Given the description of an element on the screen output the (x, y) to click on. 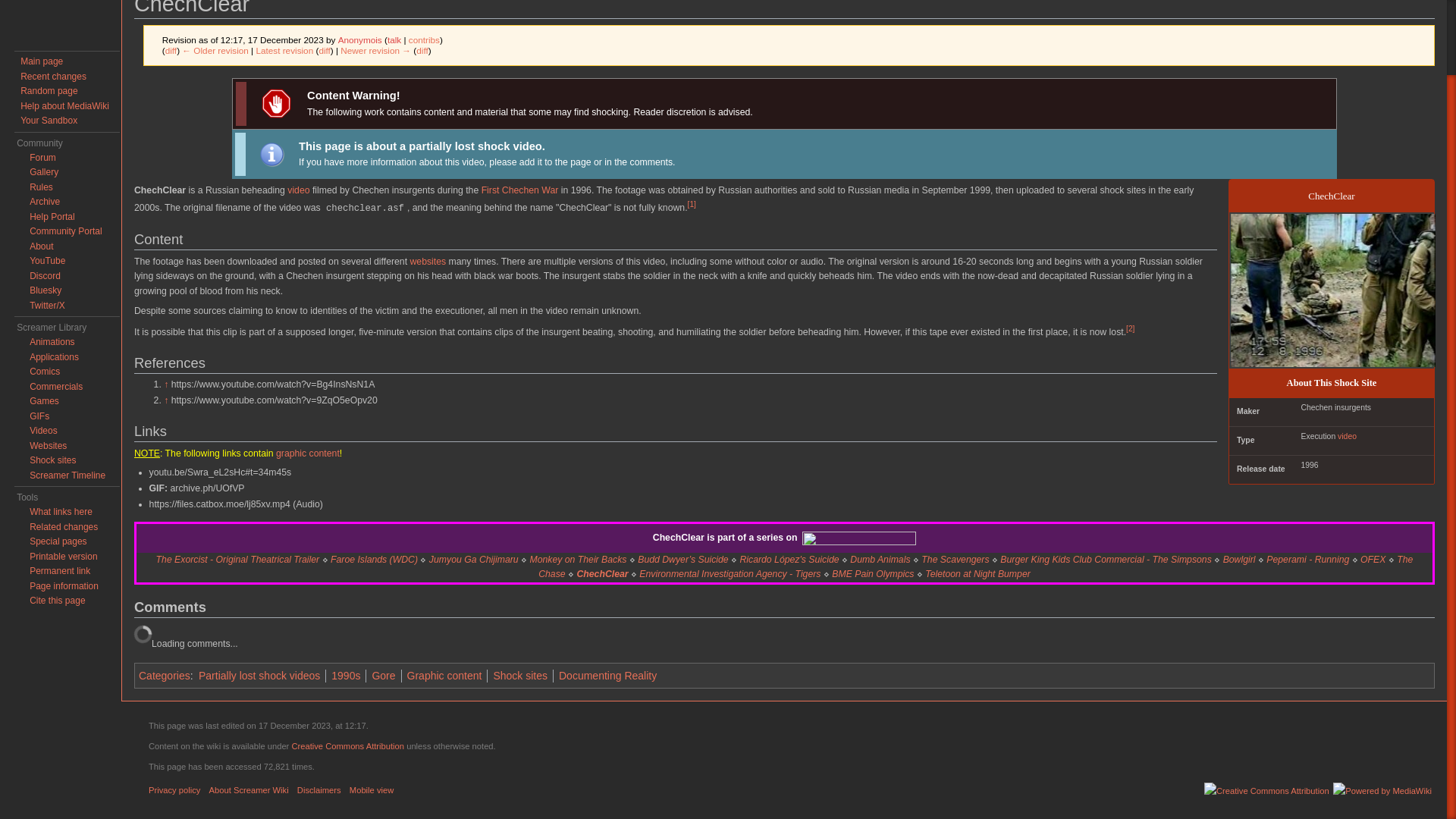
Latest revision (284, 50)
diff (170, 50)
Category:Stubs (272, 153)
Chechnya 1996.jpg (1332, 289)
Jumyou Ga Chijimaru (473, 559)
ChechClear (601, 573)
graphic content (307, 452)
video (1347, 436)
Video (297, 190)
ChechClear (422, 50)
